Given the description of an element on the screen output the (x, y) to click on. 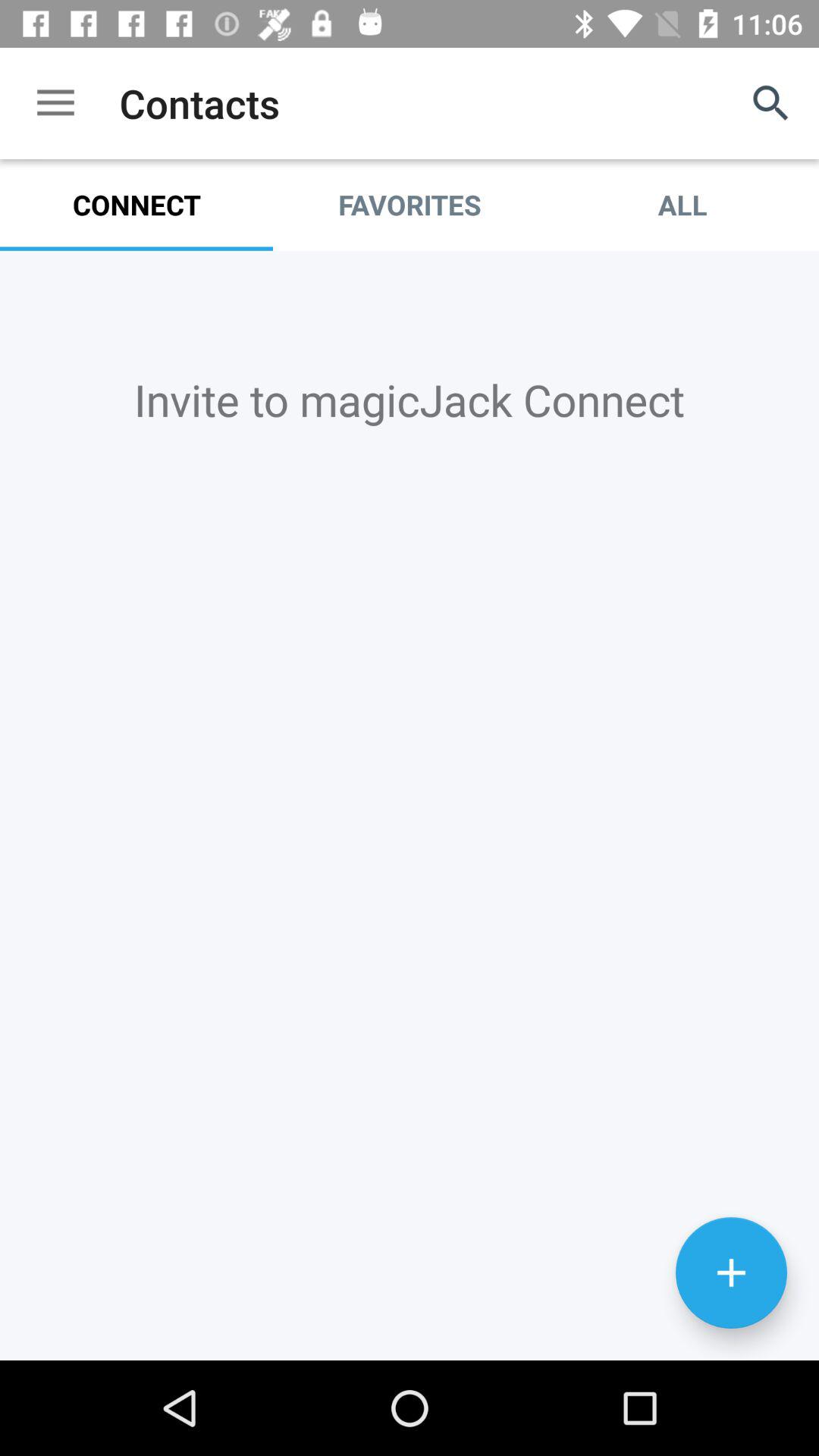
tap invite to magicjack item (409, 399)
